Given the description of an element on the screen output the (x, y) to click on. 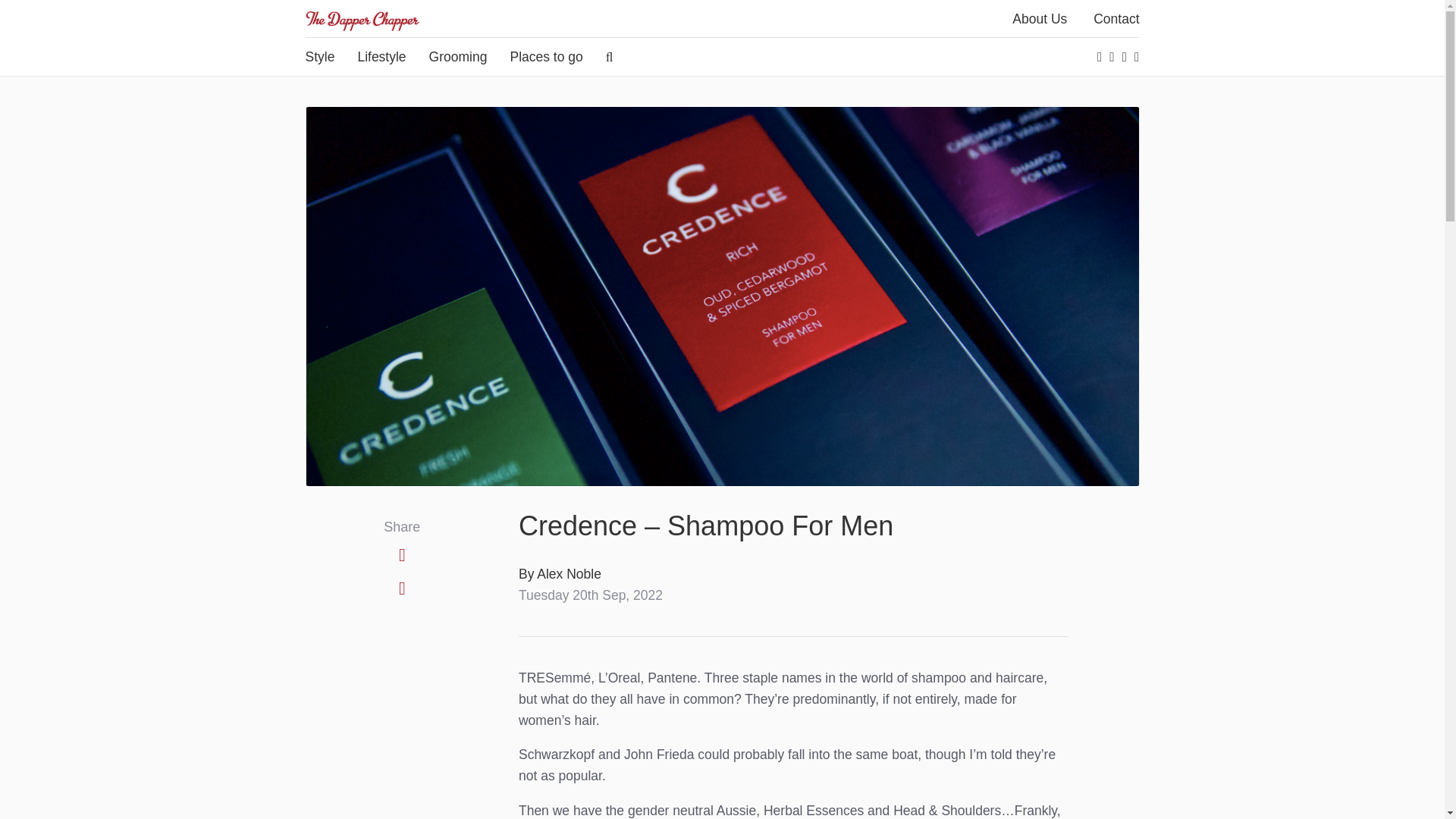
Grooming (458, 56)
Places to go (545, 56)
About Us (1039, 18)
Lifestyle (381, 56)
Contact (1115, 18)
Style (320, 56)
